Given the description of an element on the screen output the (x, y) to click on. 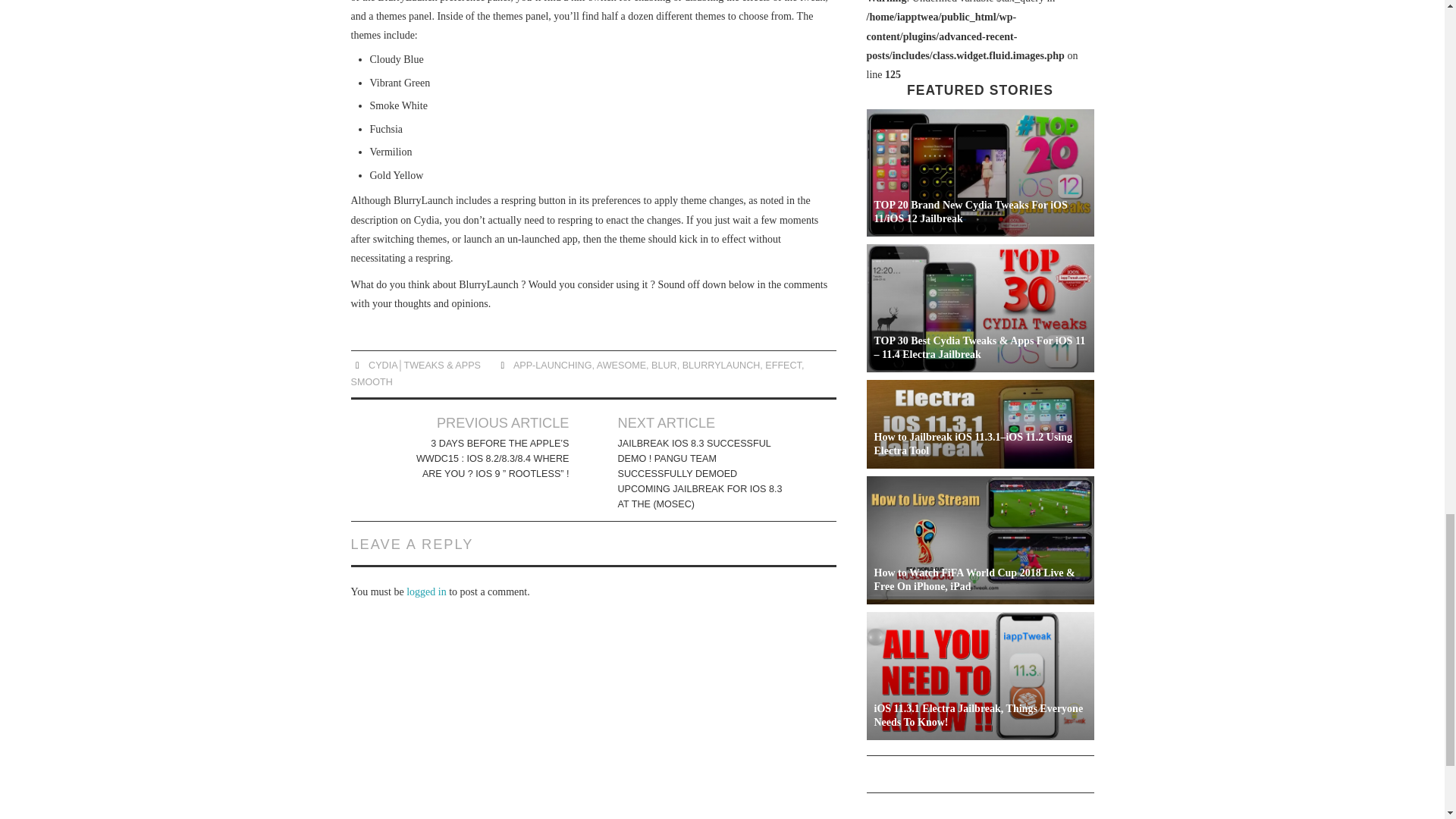
EFFECT (783, 365)
SMOOTH (370, 381)
AWESOME (621, 365)
APP-LAUNCHING (552, 365)
BLURRYLAUNCH (721, 365)
BLUR (663, 365)
logged in (426, 591)
